Given the description of an element on the screen output the (x, y) to click on. 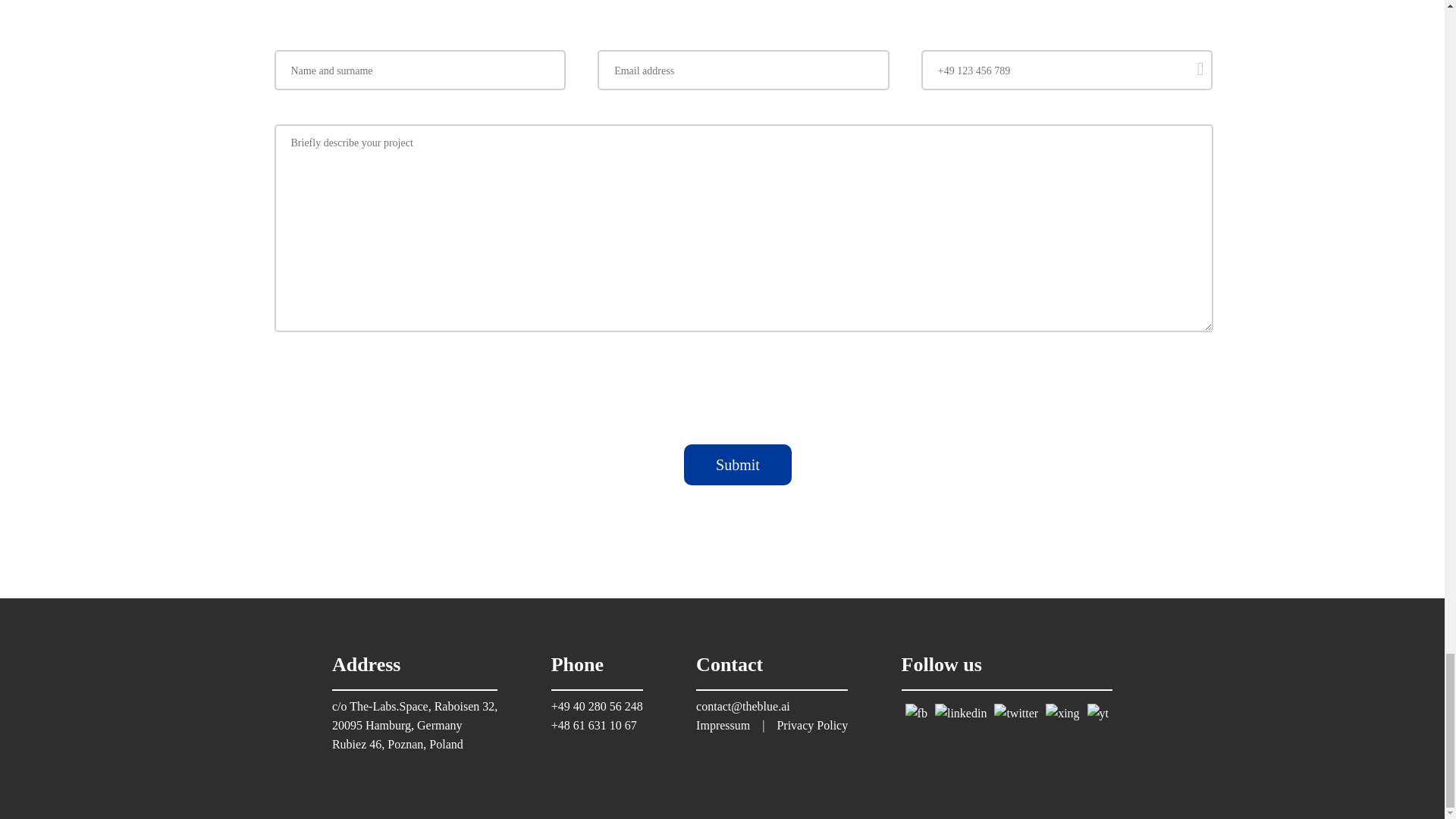
Privacy Policy (780, 371)
Information Clause (691, 371)
Submit (738, 464)
Submit (738, 464)
